Given the description of an element on the screen output the (x, y) to click on. 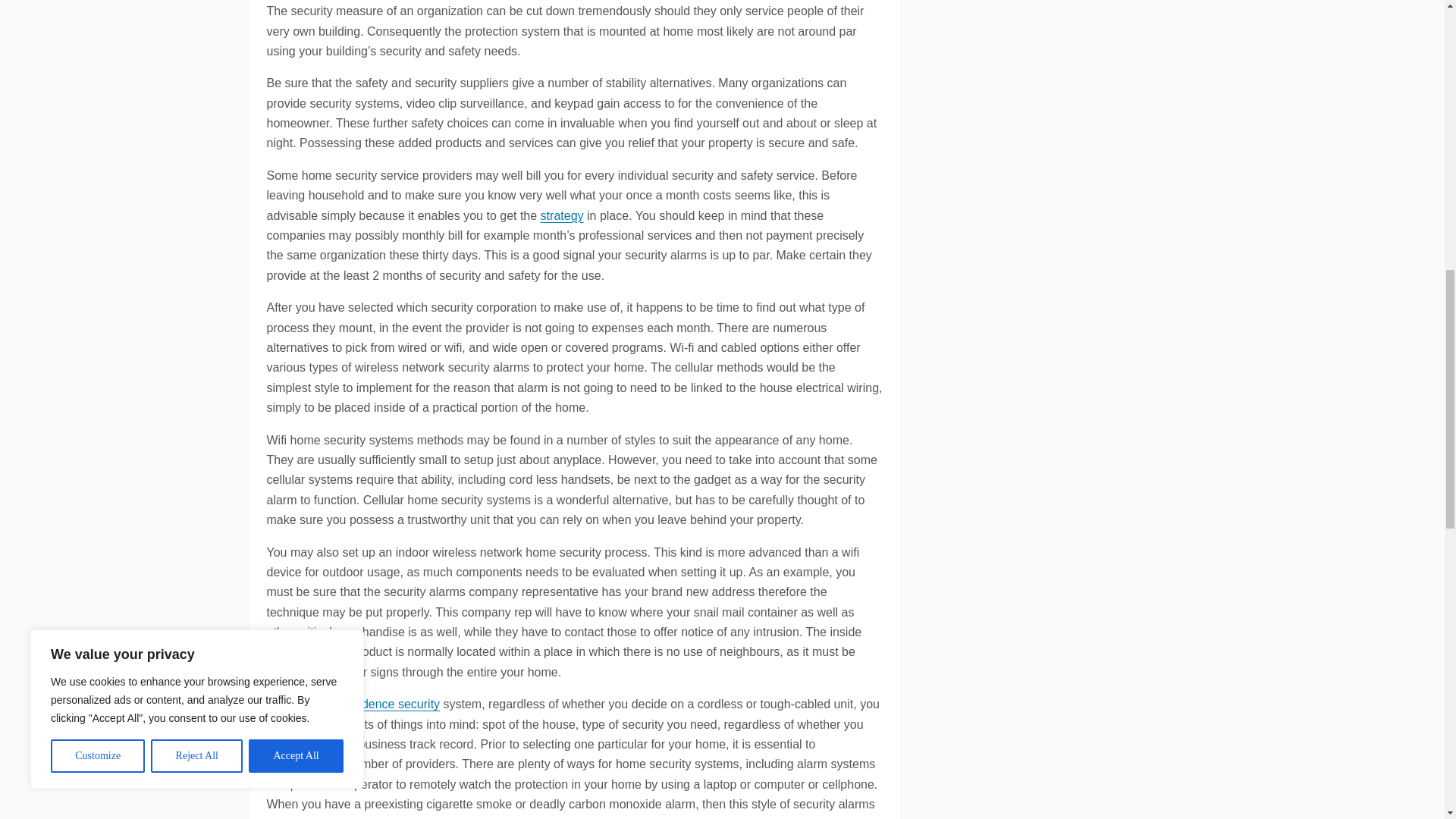
strategy (561, 215)
residence security (390, 703)
